Given the description of an element on the screen output the (x, y) to click on. 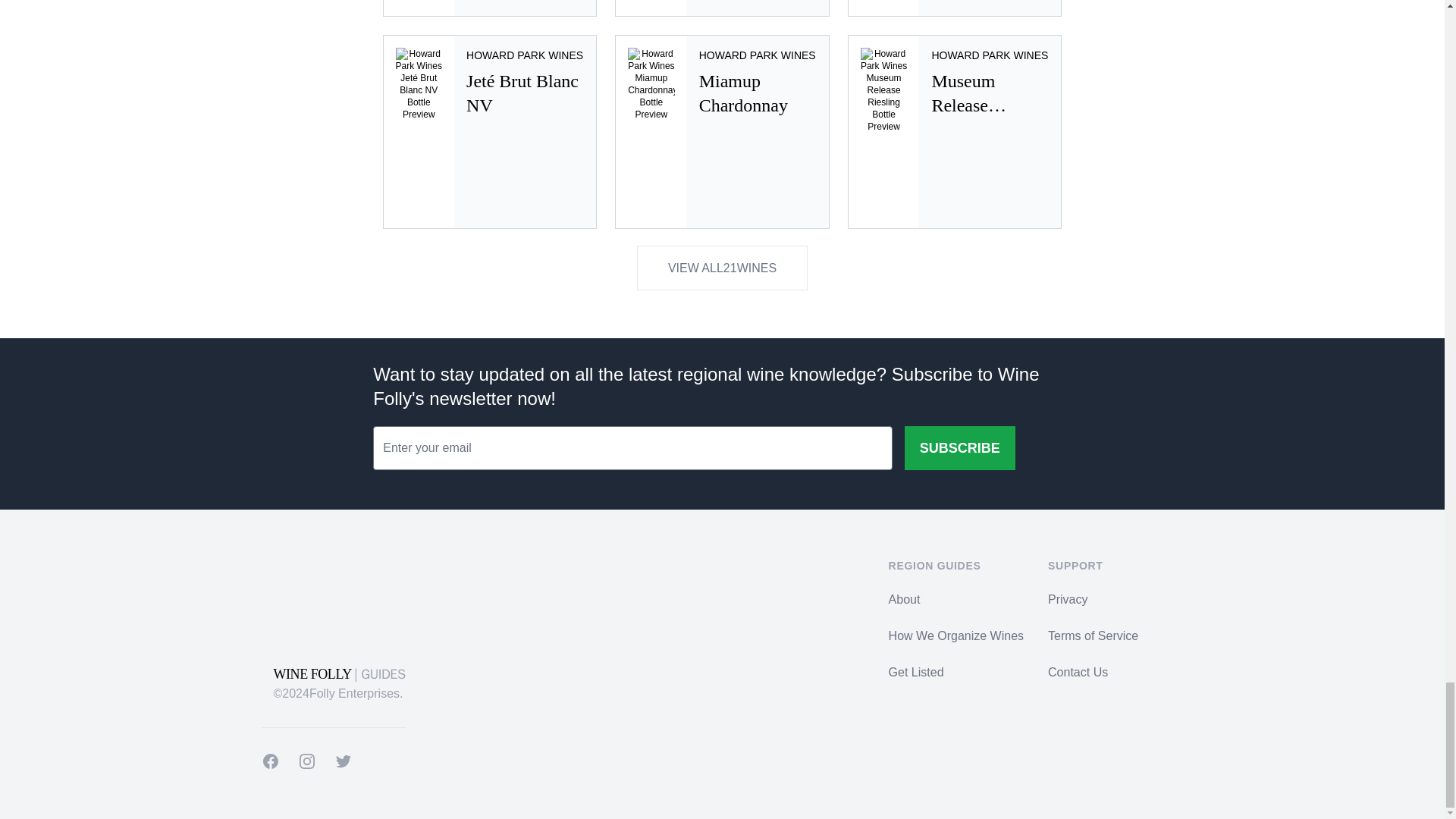
SUBSCRIBE (721, 132)
VIEW ALL21WINES (954, 132)
